Given the description of an element on the screen output the (x, y) to click on. 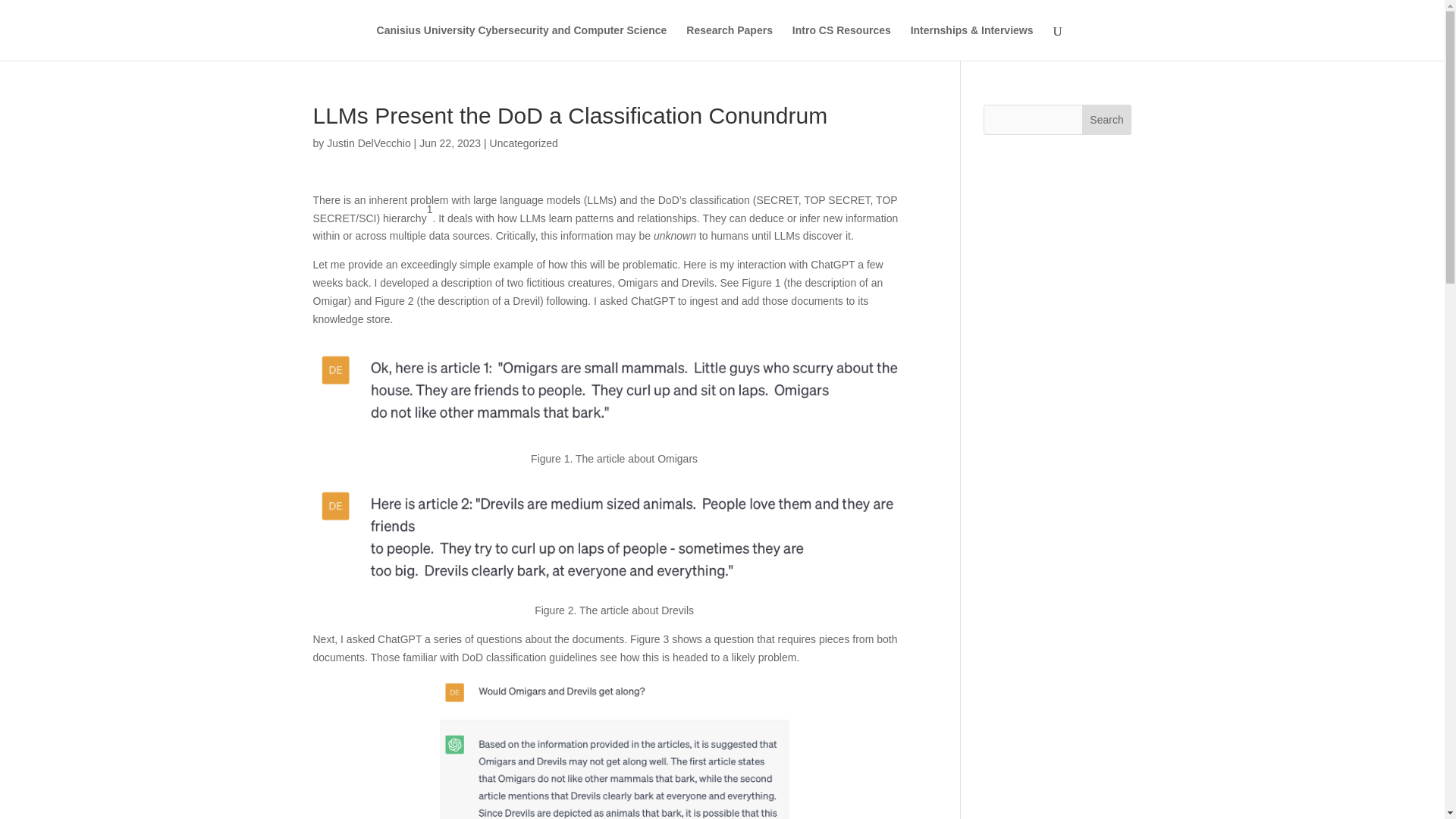
Canisius University Cybersecurity and Computer Science (521, 42)
Research Papers (729, 42)
Justin DelVecchio (368, 143)
Intro CS Resources (841, 42)
Search (1106, 119)
Posts by Justin DelVecchio (368, 143)
Uncategorized (523, 143)
